Given the description of an element on the screen output the (x, y) to click on. 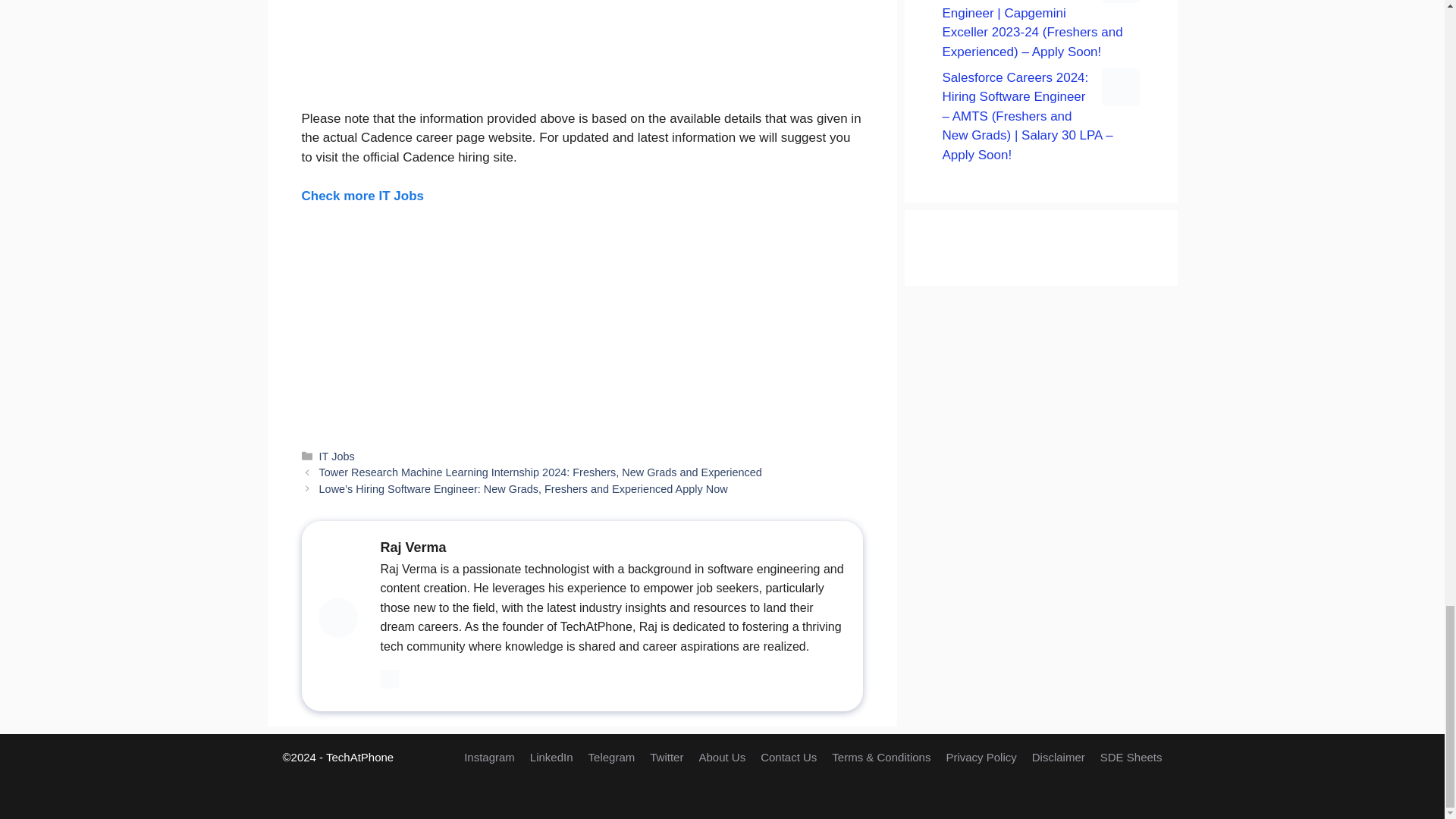
Check more IT Jobs (363, 195)
IT Jobs (336, 456)
